Given the description of an element on the screen output the (x, y) to click on. 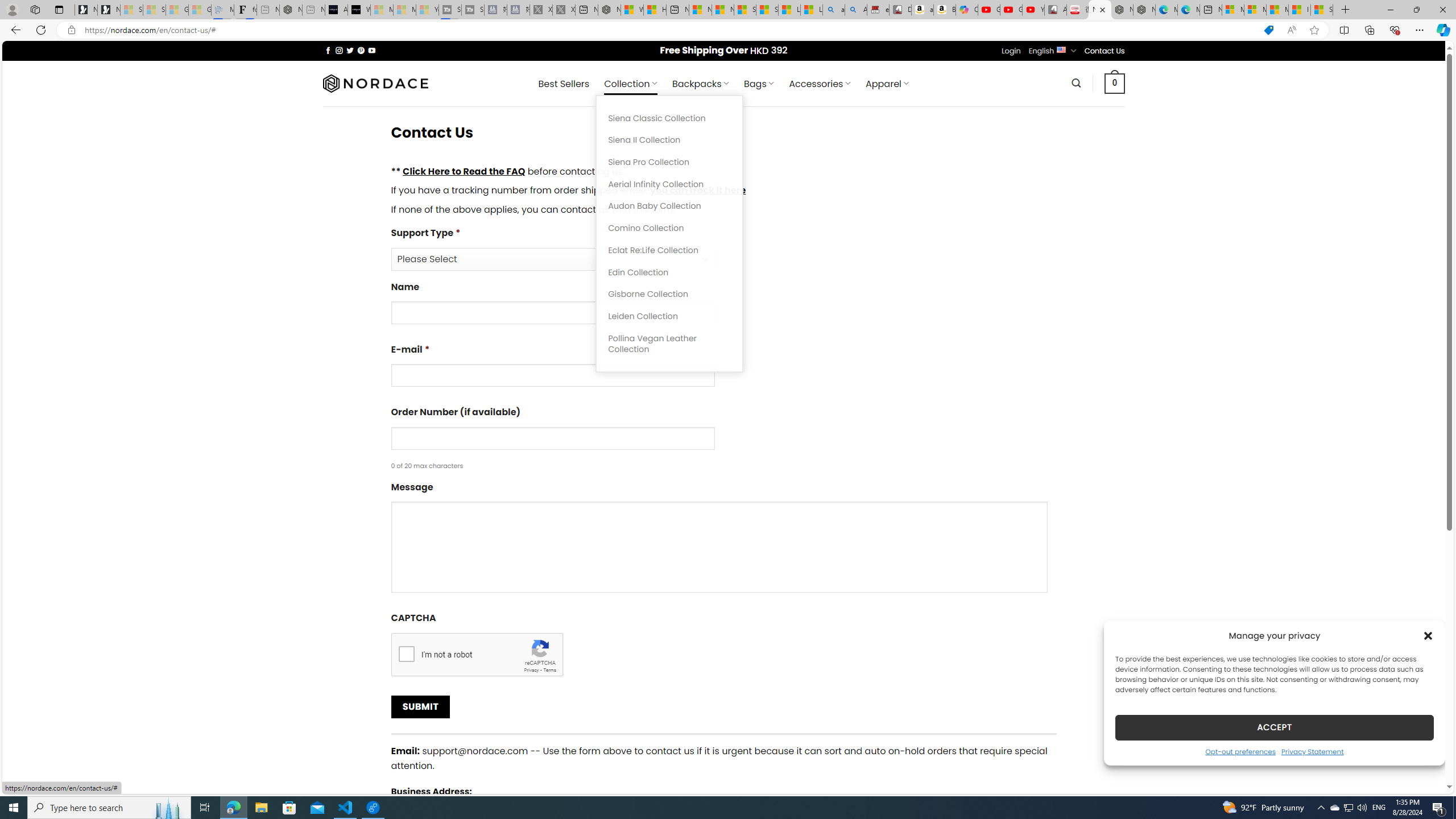
Support Type* (552, 259)
Leiden Collection (669, 316)
Class: cmplz-close (1428, 635)
CAPTCHAPrivacyTerms (723, 643)
Siena II Collection (669, 140)
